Given the description of an element on the screen output the (x, y) to click on. 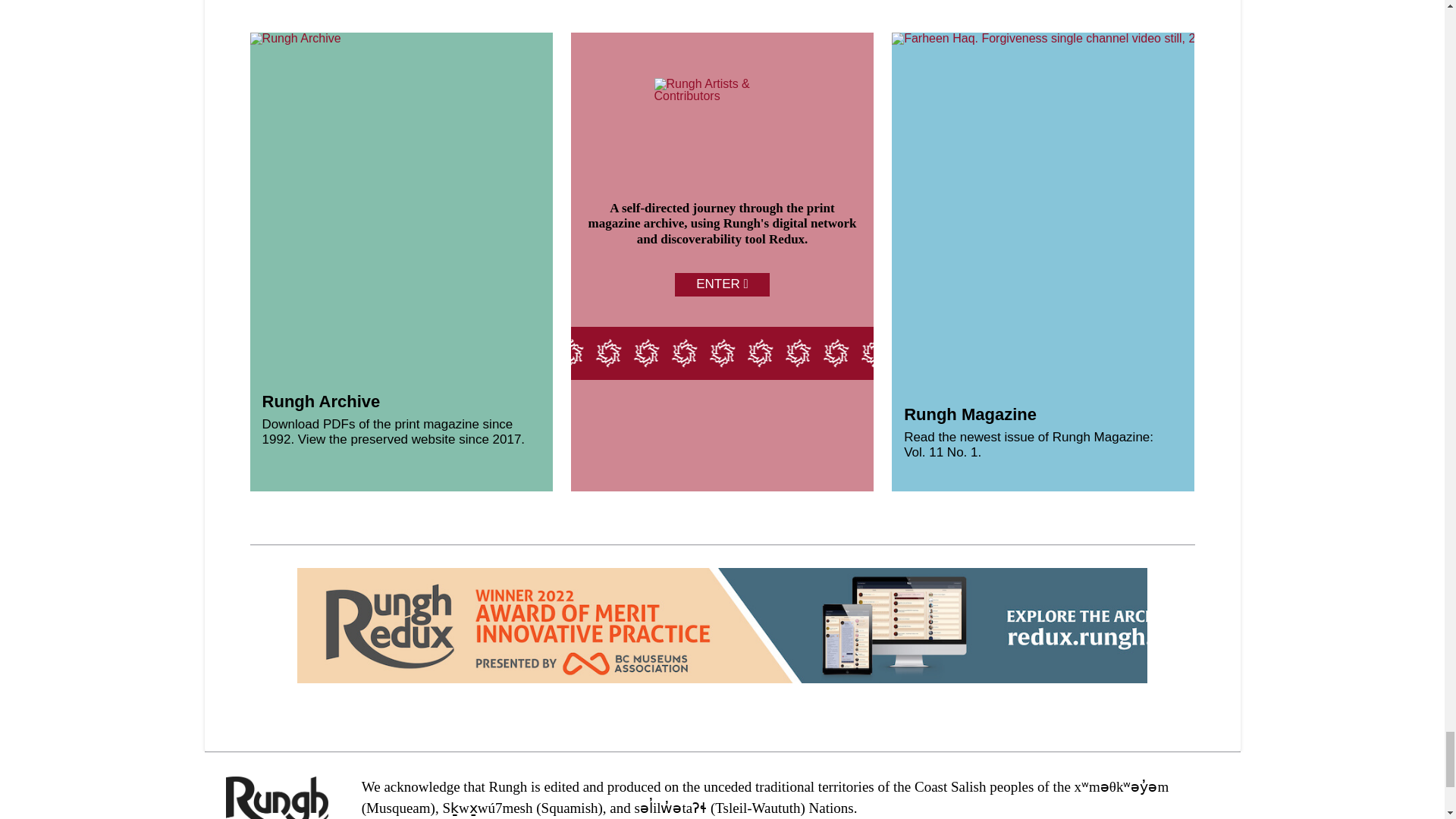
Rungh Redux Winner 2022 Award of Merit Innovative Practice (762, 625)
